Given the description of an element on the screen output the (x, y) to click on. 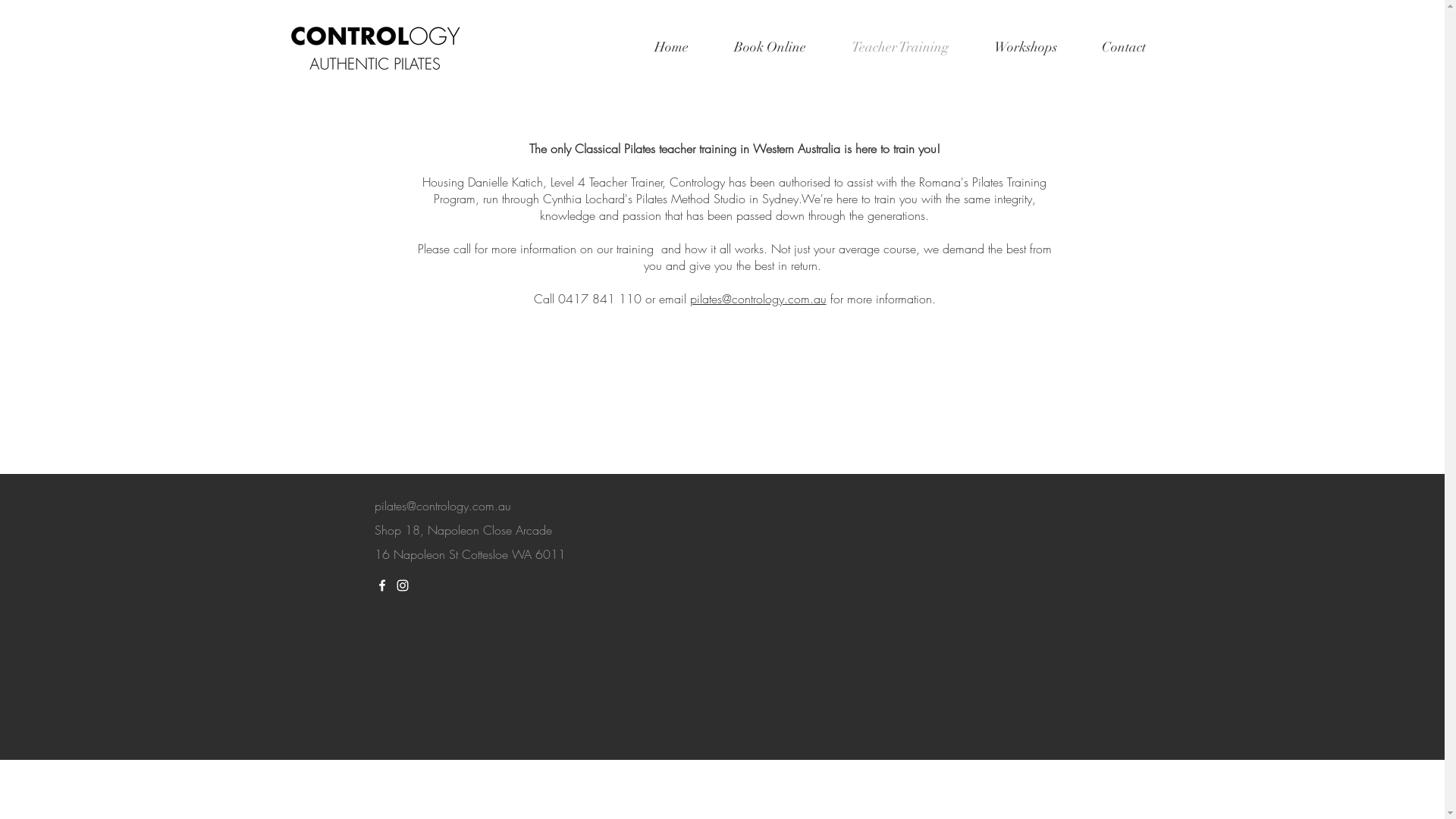
Contact Element type: text (1123, 46)
pilates@contrology.com.au Element type: text (442, 505)
pilates@contrology.com.au Element type: text (758, 298)
Workshops Element type: text (1024, 46)
Home Element type: text (670, 46)
Book Online Element type: text (769, 46)
Teacher Training Element type: text (899, 46)
